Given the description of an element on the screen output the (x, y) to click on. 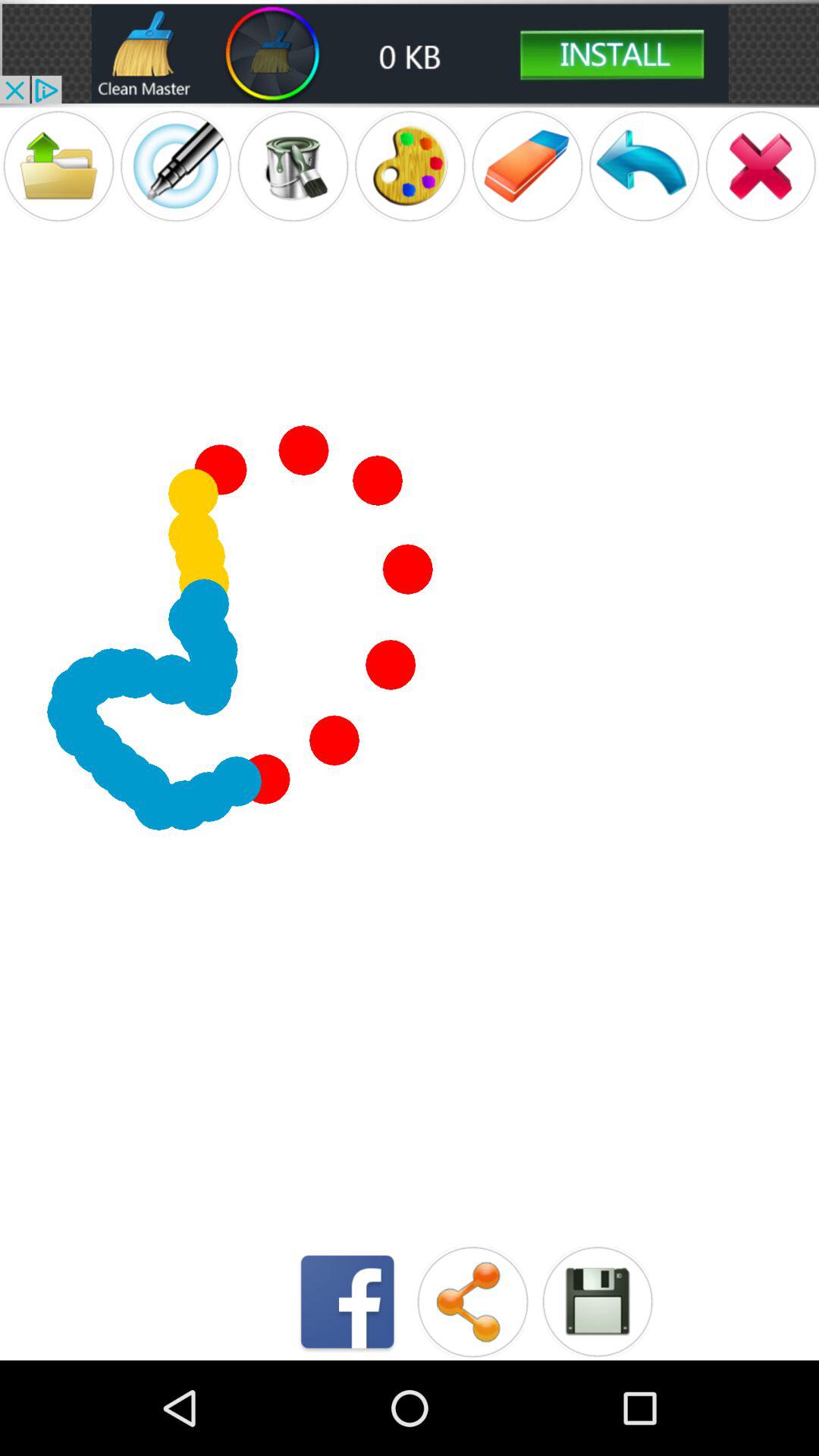
clean option (409, 53)
